Given the description of an element on the screen output the (x, y) to click on. 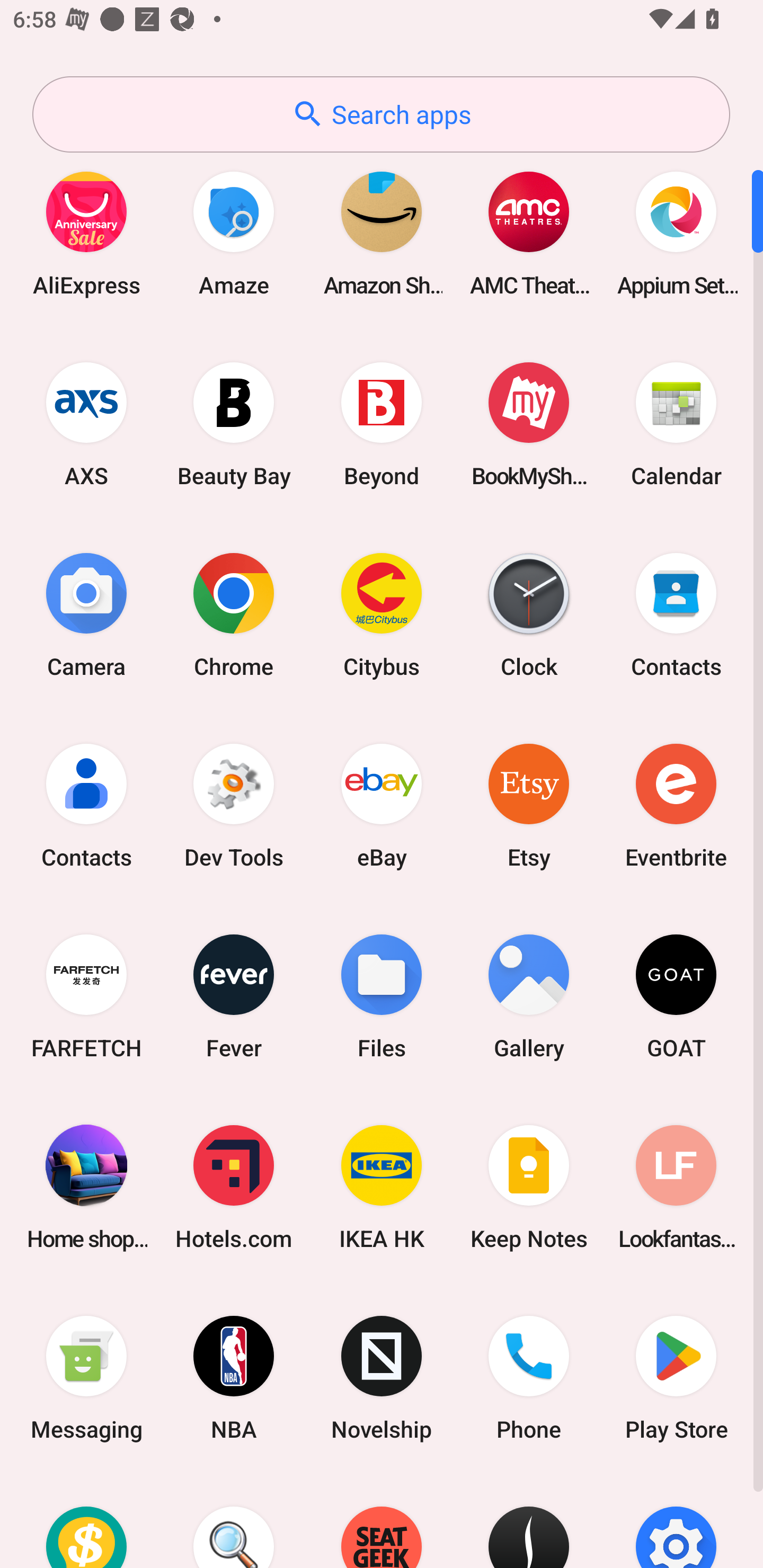
  Search apps (381, 114)
AliExpress (86, 233)
Amaze (233, 233)
Amazon Shopping (381, 233)
AMC Theatres (528, 233)
Appium Settings (676, 233)
AXS (86, 424)
Beauty Bay (233, 424)
Beyond (381, 424)
BookMyShow (528, 424)
Calendar (676, 424)
Camera (86, 614)
Chrome (233, 614)
Citybus (381, 614)
Clock (528, 614)
Contacts (676, 614)
Contacts (86, 805)
Dev Tools (233, 805)
eBay (381, 805)
Etsy (528, 805)
Eventbrite (676, 805)
FARFETCH (86, 996)
Fever (233, 996)
Files (381, 996)
Gallery (528, 996)
GOAT (676, 996)
Home shopping (86, 1186)
Hotels.com (233, 1186)
IKEA HK (381, 1186)
Keep Notes (528, 1186)
Lookfantastic (676, 1186)
Messaging (86, 1377)
NBA (233, 1377)
Novelship (381, 1377)
Phone (528, 1377)
Play Store (676, 1377)
